Given the description of an element on the screen output the (x, y) to click on. 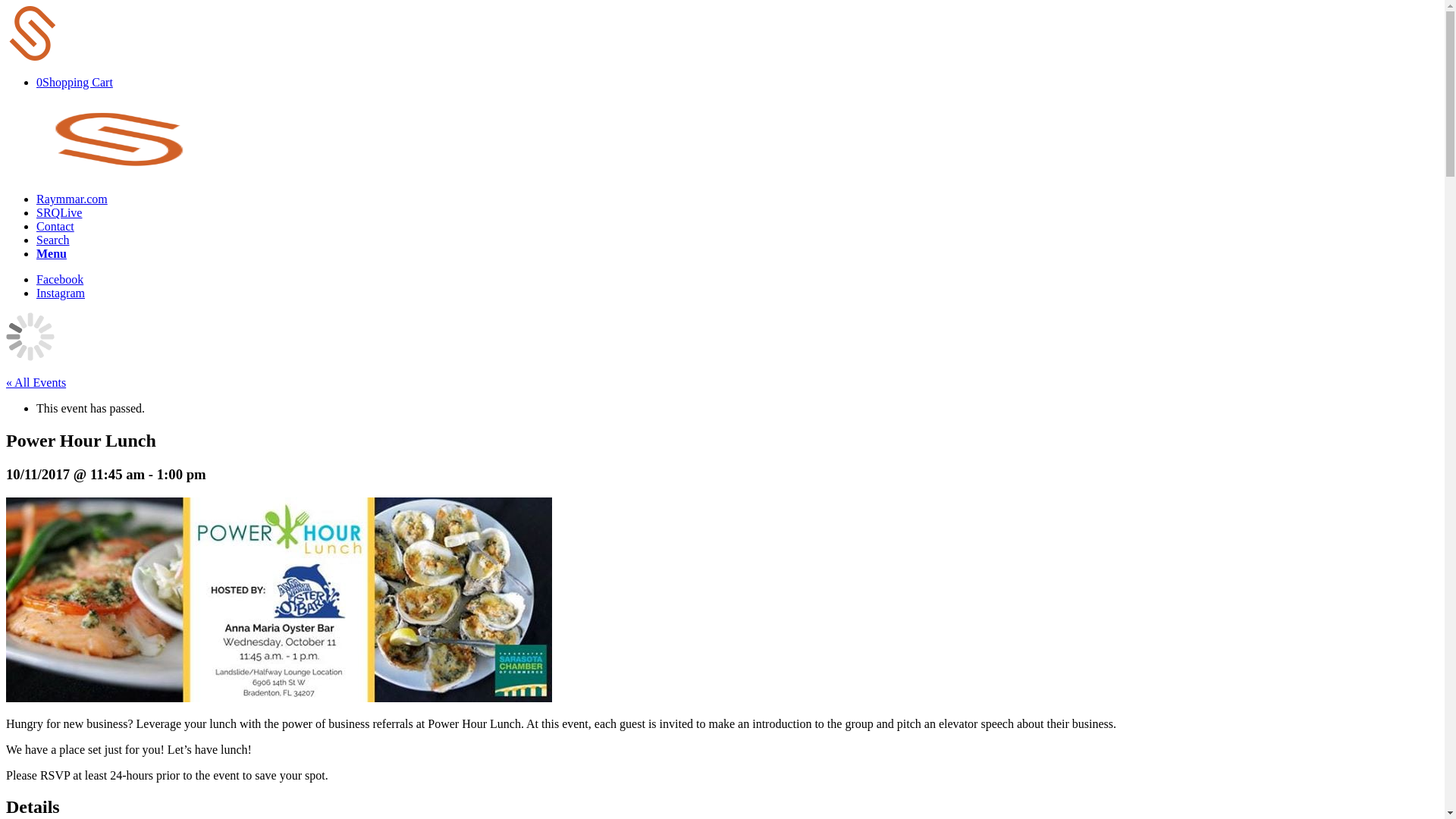
Search (52, 239)
Facebook (59, 278)
Raymmar.com (71, 198)
Contact (55, 226)
Facebook (59, 278)
Instagram (60, 292)
0Shopping Cart (74, 82)
SRQLive (58, 212)
Loading (33, 32)
Instagram (60, 292)
Menu (51, 253)
